Given the description of an element on the screen output the (x, y) to click on. 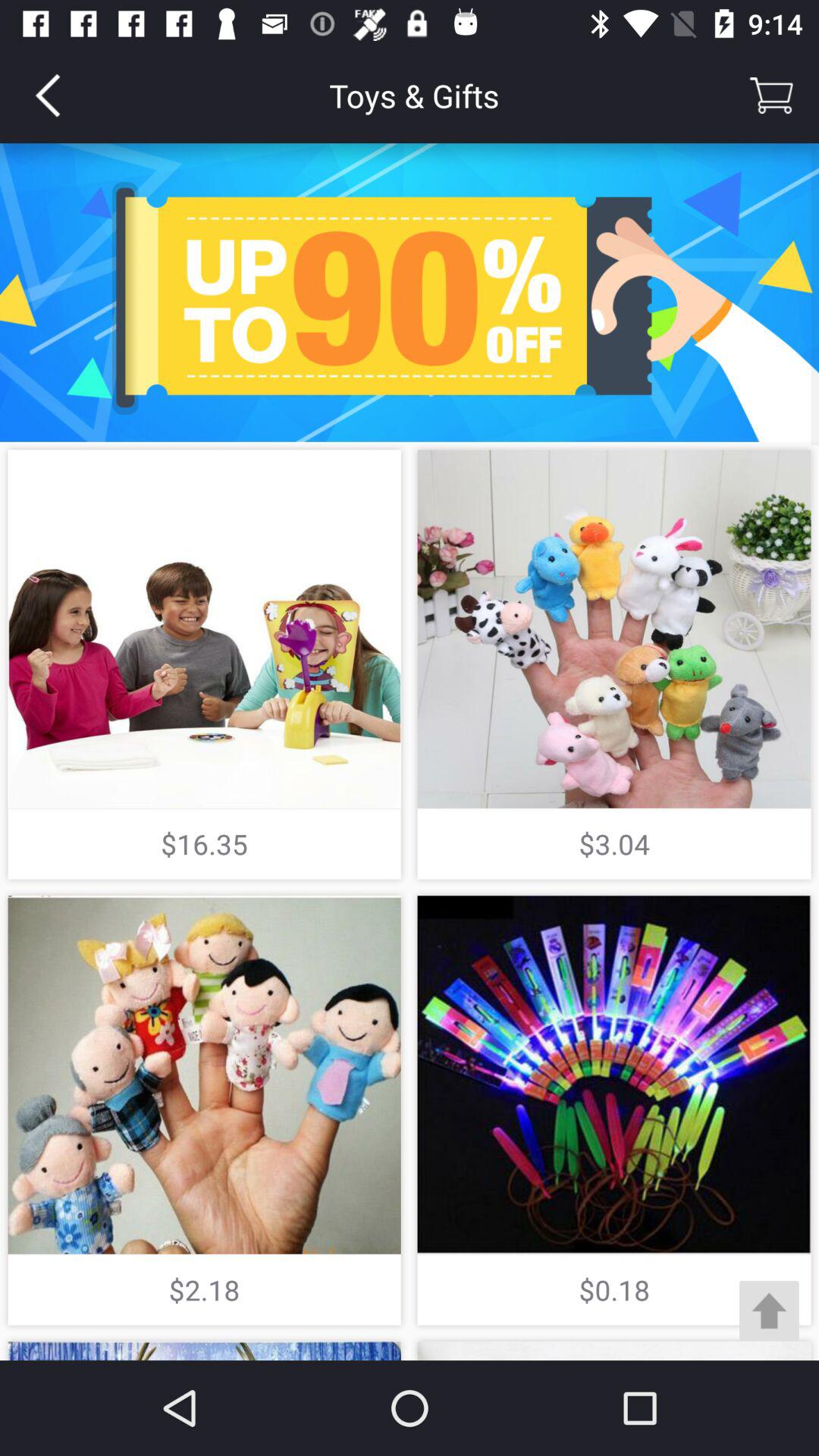
scroll up (769, 1310)
